Given the description of an element on the screen output the (x, y) to click on. 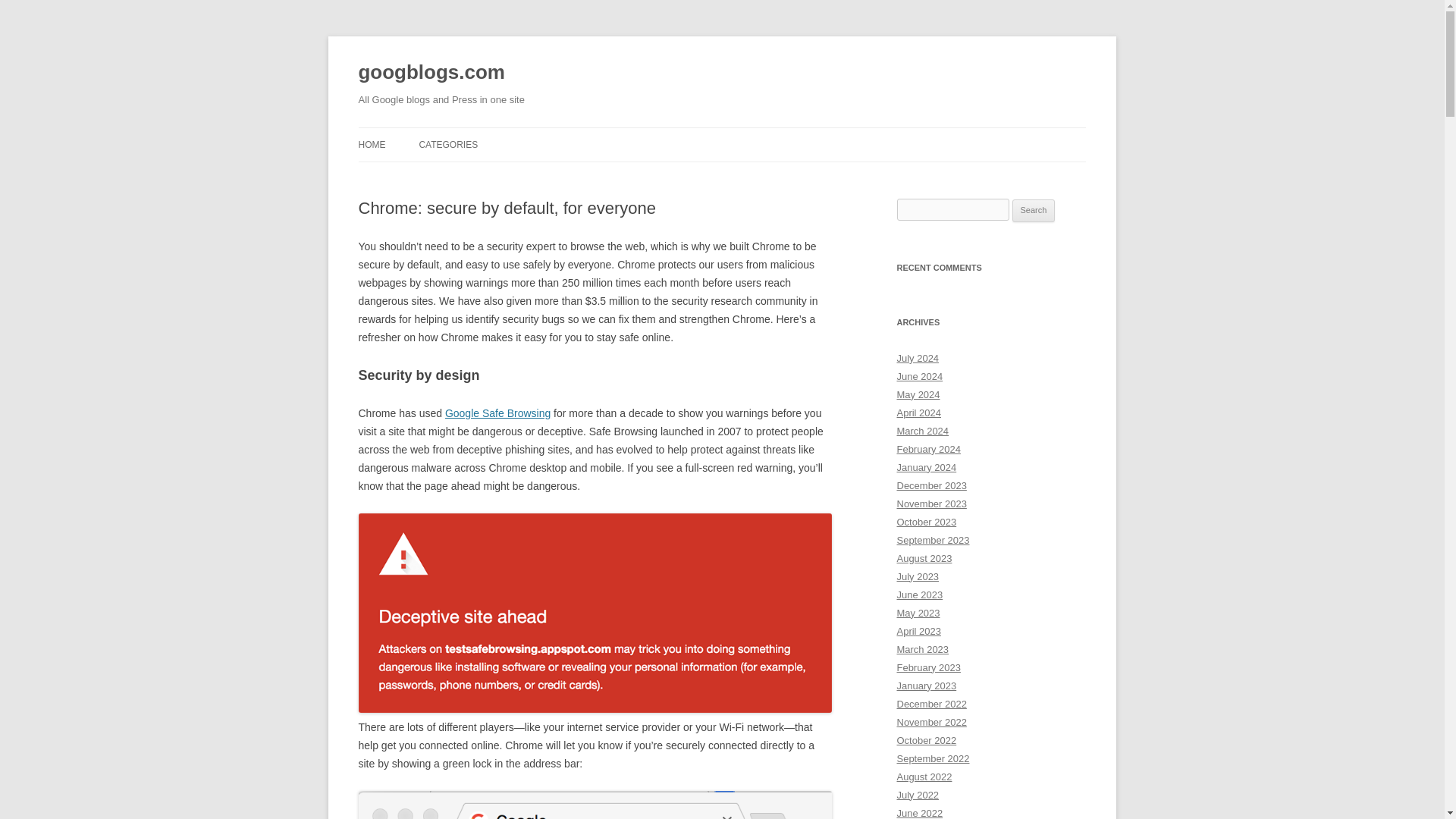
June 2024 (919, 376)
Search (1033, 210)
December 2023 (931, 485)
July 2024 (917, 357)
March 2024 (922, 430)
April 2024 (918, 412)
October 2023 (926, 521)
Google Safe Browsing (497, 413)
Search (1033, 210)
February 2024 (927, 449)
GOOGLE ADS DEVELOPER BLOG (494, 176)
googblogs.com (430, 72)
May 2024 (917, 394)
November 2023 (931, 503)
